Given the description of an element on the screen output the (x, y) to click on. 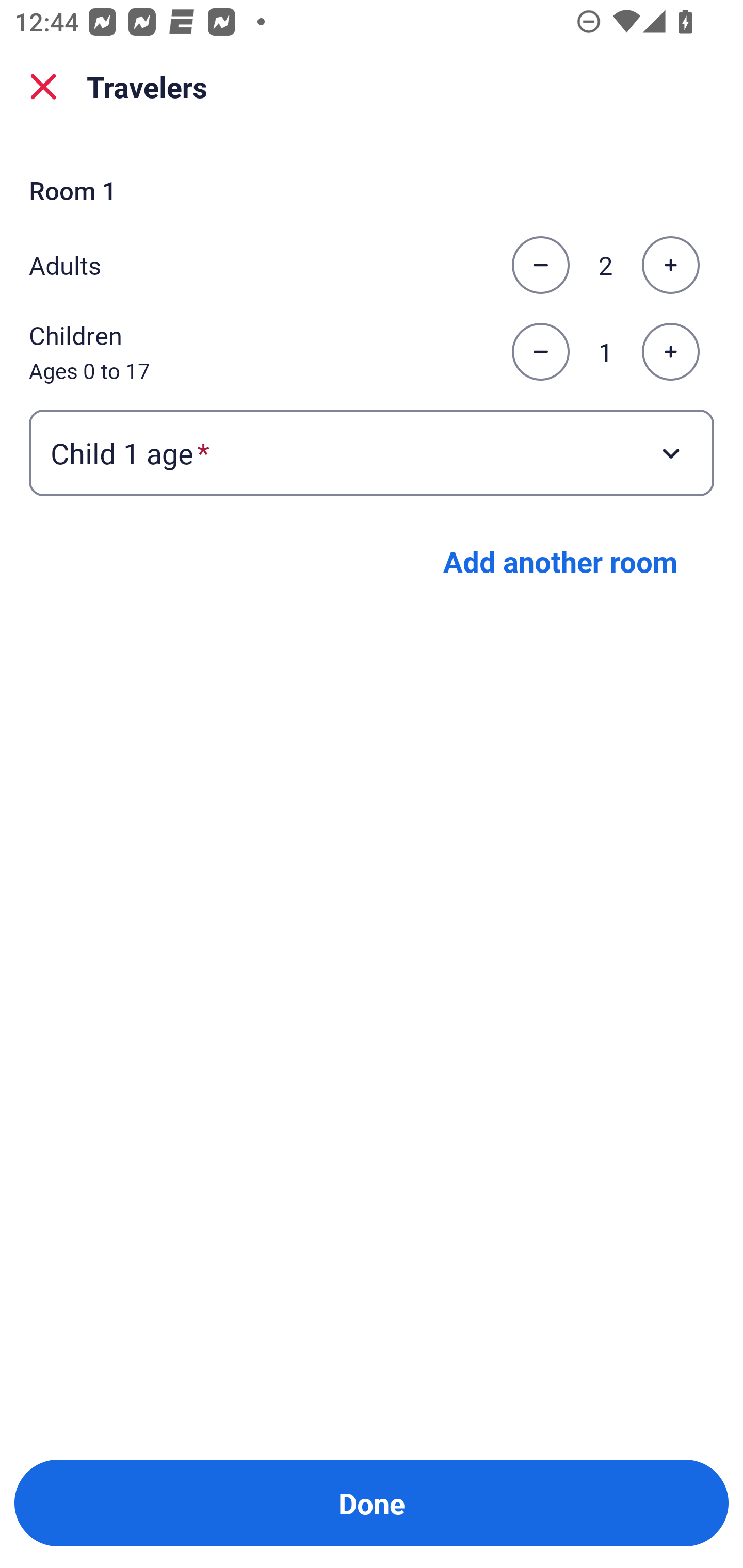
close (43, 86)
Decrease the number of adults (540, 264)
Increase the number of adults (670, 264)
Decrease the number of children (540, 351)
Increase the number of children (670, 351)
Child 1 age required Button (371, 452)
Add another room (560, 561)
Done (371, 1502)
